Given the description of an element on the screen output the (x, y) to click on. 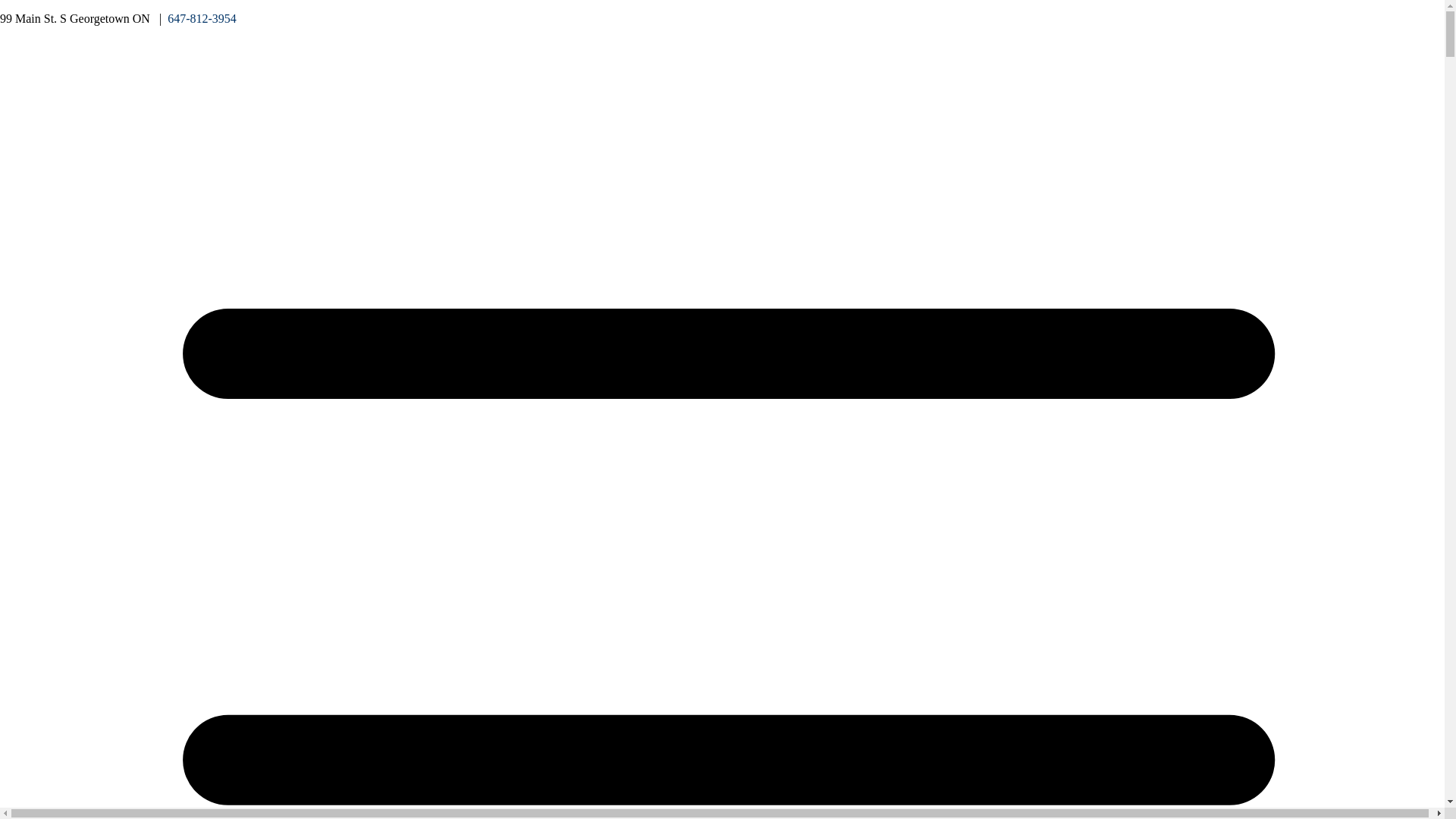
647-812-3954 Element type: text (201, 18)
